Given the description of an element on the screen output the (x, y) to click on. 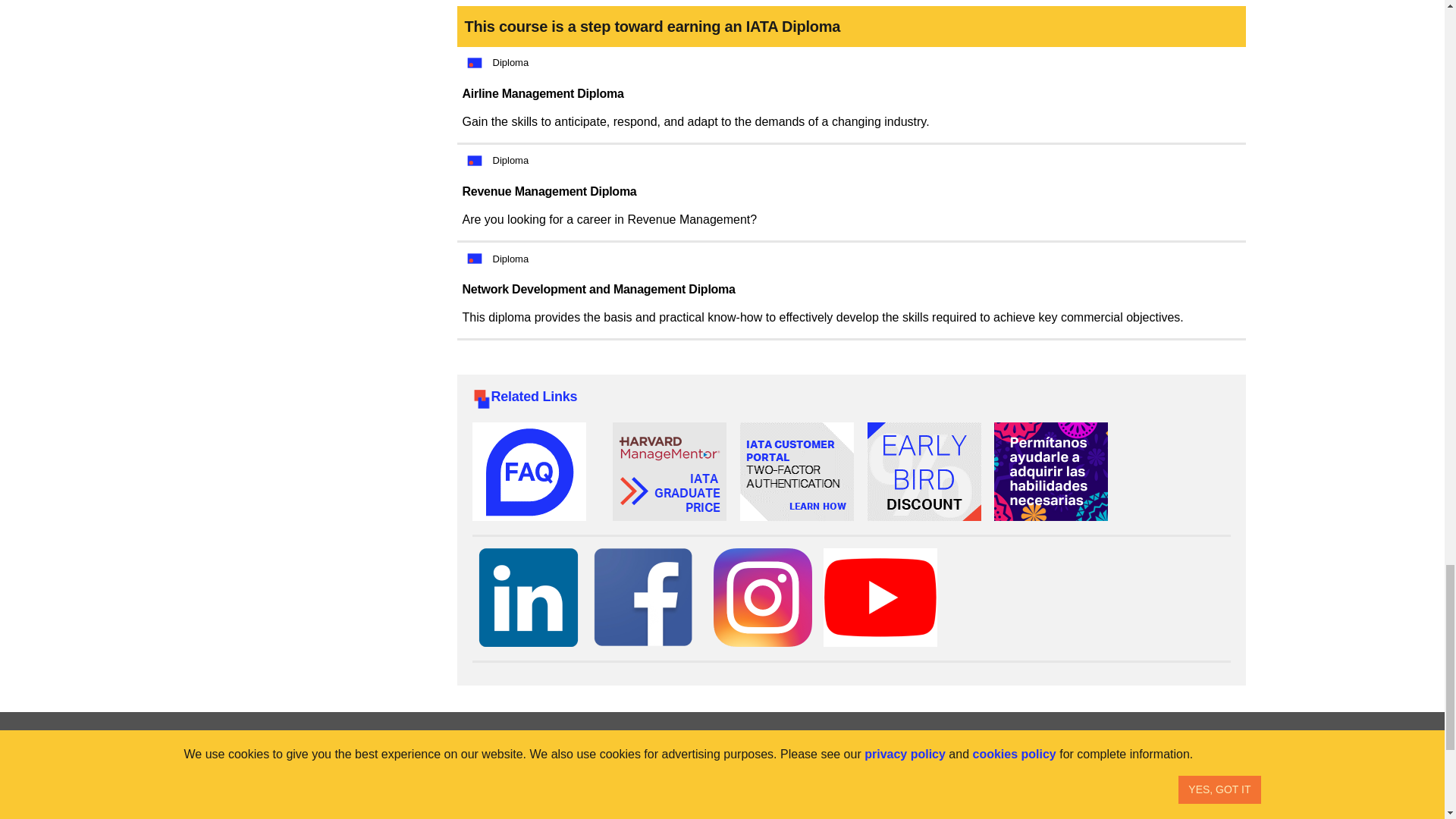
Follow us on Facebook (641, 600)
Follow us on IATATv (880, 600)
Frequently Asked Questions (528, 474)
Follow us on Instagram (762, 600)
Register early for an early bird discount (924, 474)
Find out how you can activate the two-factor authentication (796, 474)
Follow us on LinkedIn (528, 600)
